Given the description of an element on the screen output the (x, y) to click on. 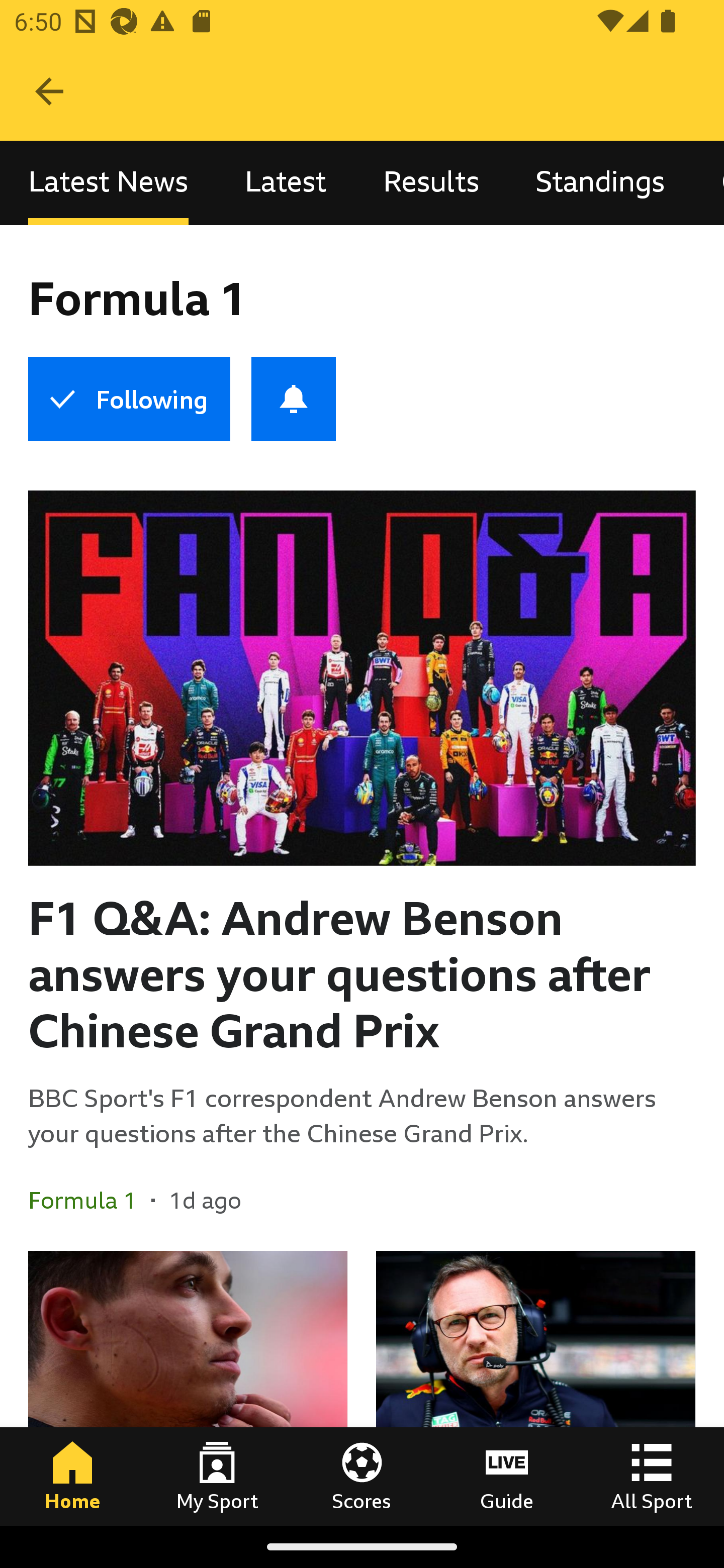
Navigate up (49, 91)
Latest News, selected Latest News (108, 183)
Latest (285, 183)
Results (430, 183)
Standings (600, 183)
Following Formula 1 Following (129, 398)
Push notifications for Formula 1 (293, 398)
Horner criticises Wolff over Verstappen comments (535, 1388)
My Sport (216, 1475)
Scores (361, 1475)
Guide (506, 1475)
All Sport (651, 1475)
